Given the description of an element on the screen output the (x, y) to click on. 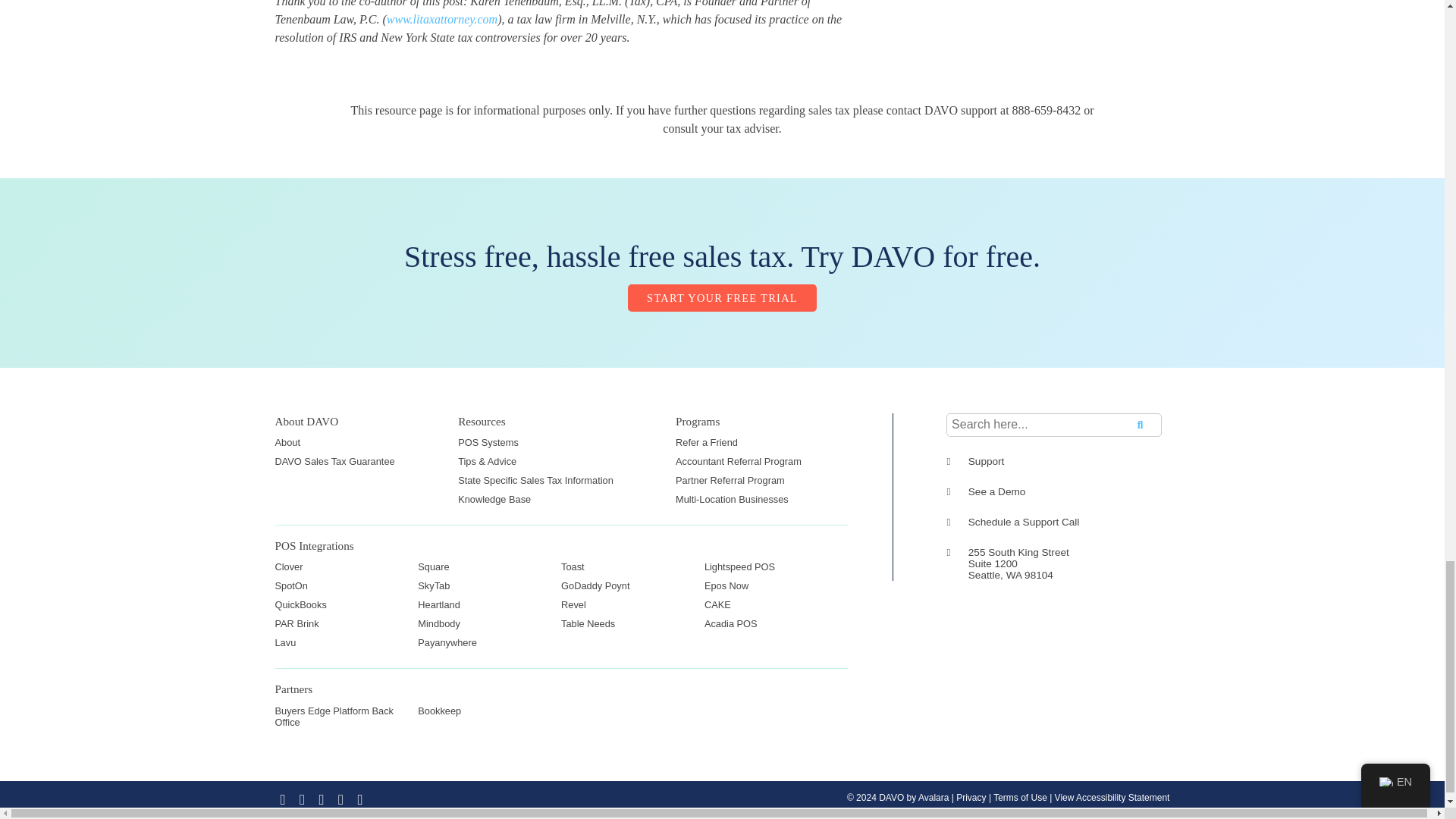
Clover (288, 566)
START YOUR FREE TRIAL (721, 298)
www.litaxattorney.com (442, 19)
Knowledge Base (494, 499)
POS Integrations (314, 545)
POS Systems (488, 441)
Refer a Friend (706, 441)
Resources (481, 420)
DAVO Sales Tax Guarantee (334, 460)
About (287, 441)
